Given the description of an element on the screen output the (x, y) to click on. 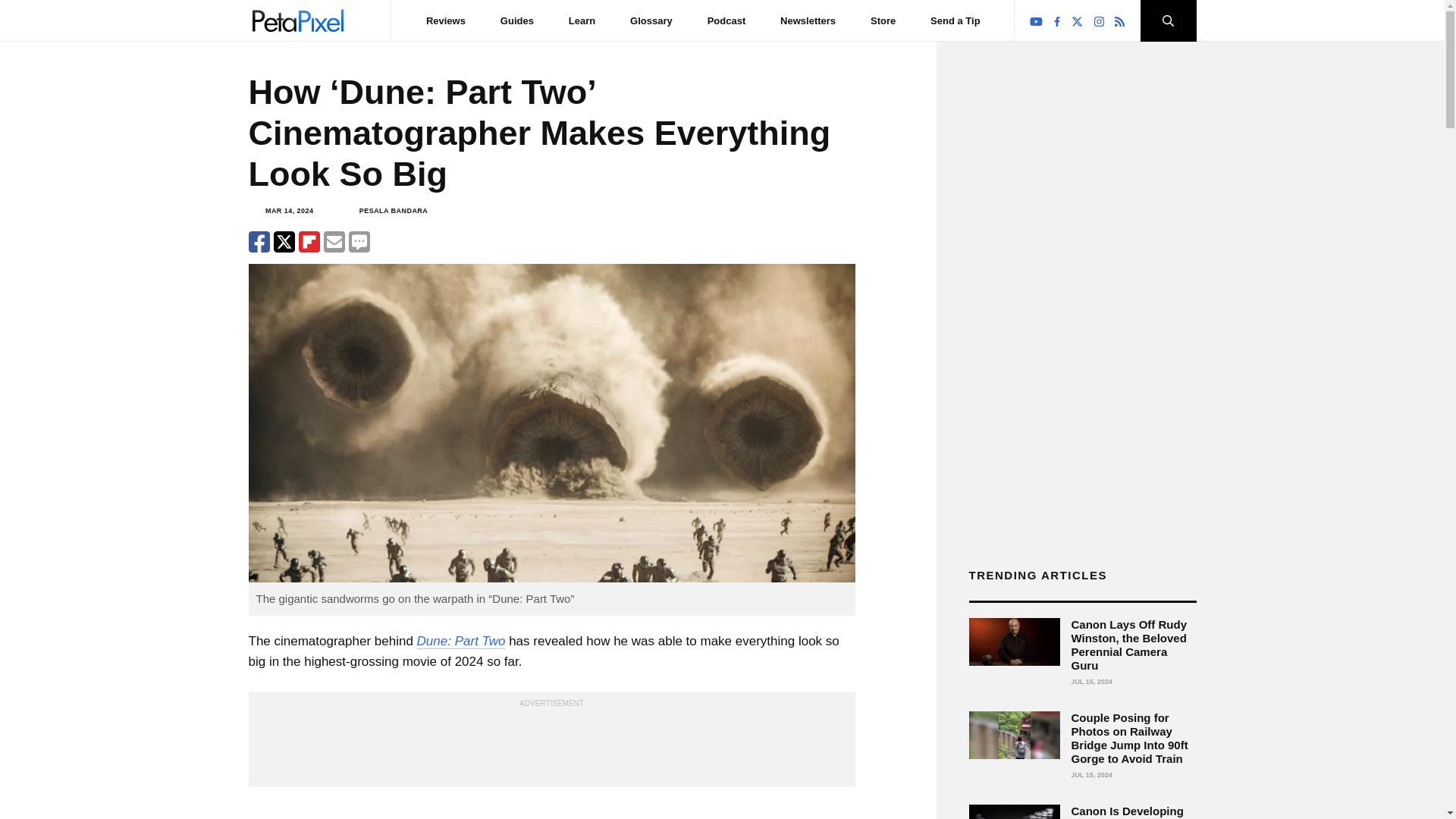
Send a Tip (954, 20)
RSS Feed (1119, 21)
Dune: Part Two (460, 641)
Follow PetaPixel on Instagram (1098, 21)
PetaPixel (296, 20)
Follow PetaPixel on YouTube (1035, 21)
Podcast (726, 20)
Follow PetaPixel on Instagram (1099, 20)
Newsletters (807, 20)
PetaPixel (296, 20)
Follow PetaPixel on X (1077, 21)
Guides (517, 20)
PESALA BANDARA (393, 210)
Comments (359, 241)
Share on facebook (258, 241)
